Given the description of an element on the screen output the (x, y) to click on. 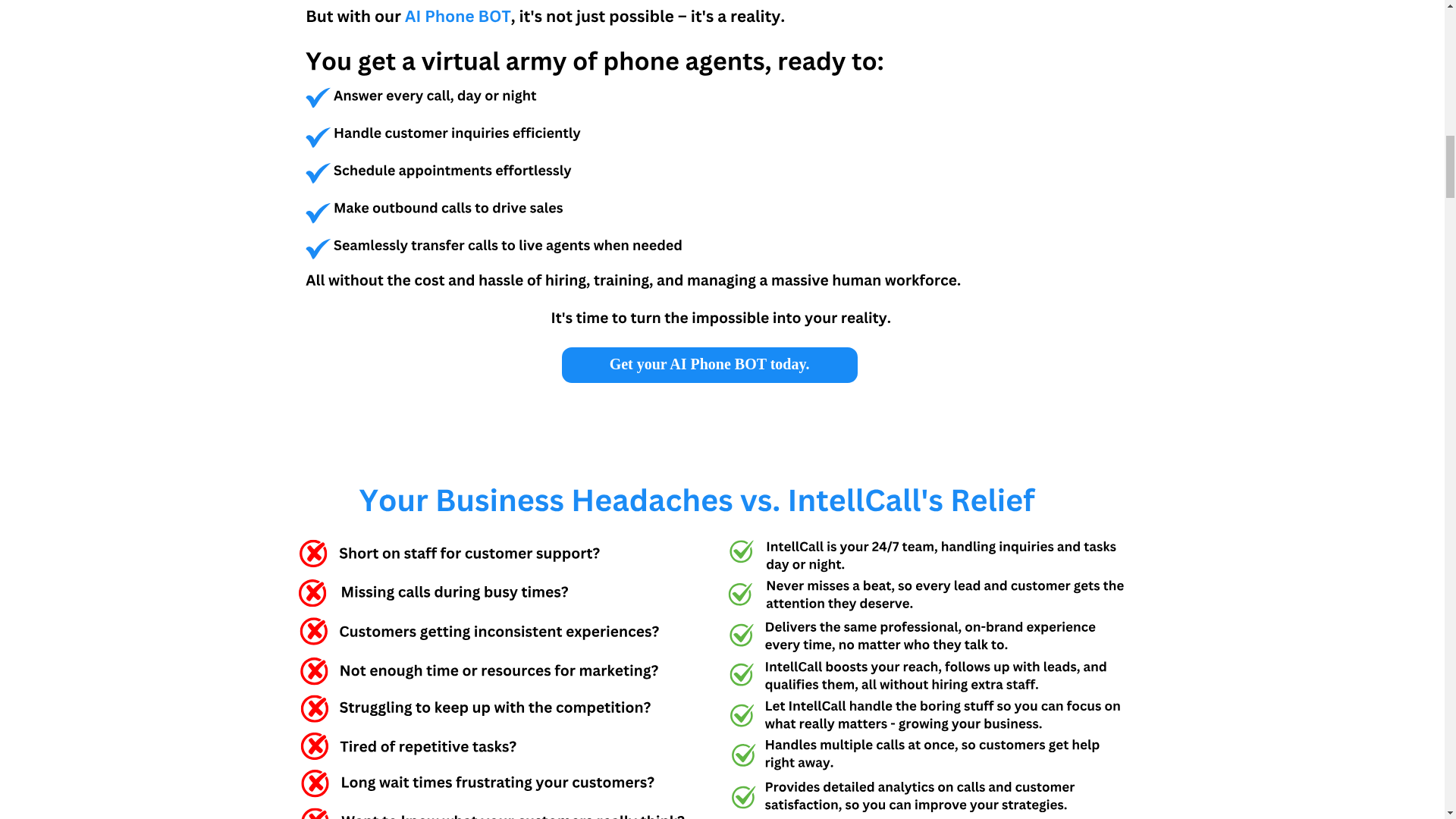
Get your AI Phone BOT today. (709, 364)
